Given the description of an element on the screen output the (x, y) to click on. 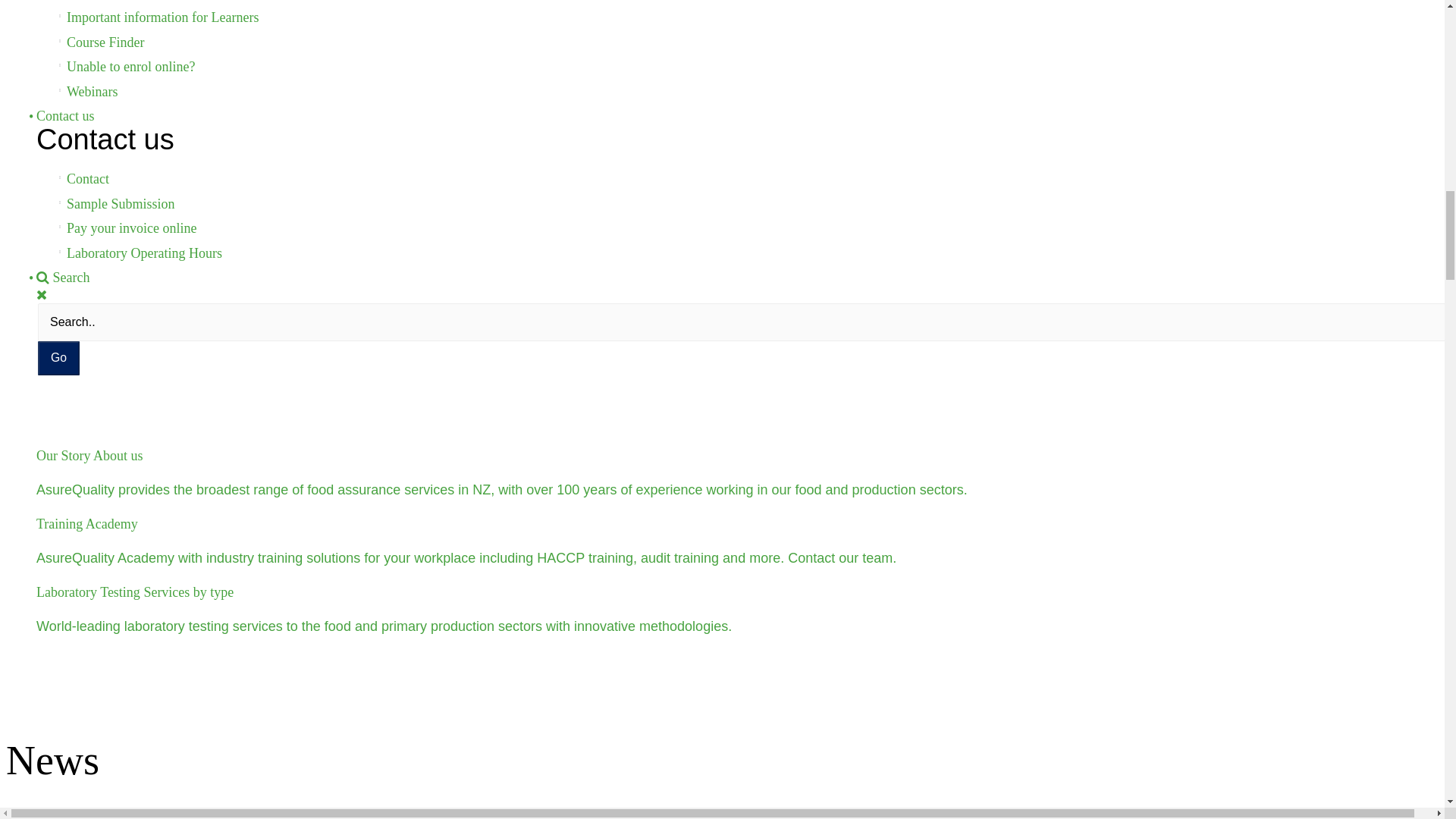
Go (58, 358)
Close search (41, 294)
Go (58, 358)
